Given the description of an element on the screen output the (x, y) to click on. 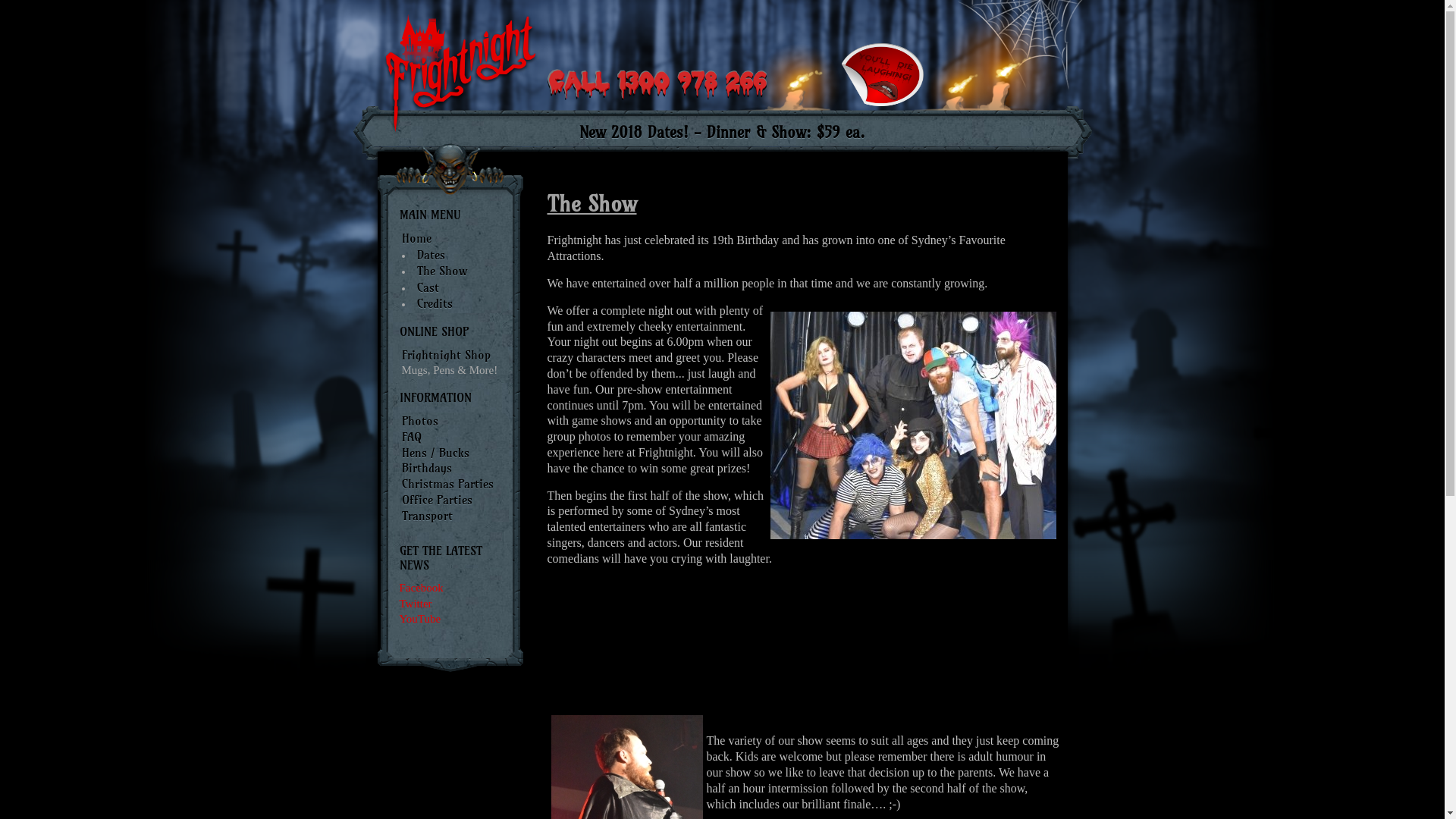
1300 978 266 Element type: hover (656, 95)
Christmas Parties Element type: text (447, 483)
Hens / Bucks Element type: text (435, 452)
YouTube Element type: text (419, 618)
New 2018 Dates! - Dinner & Show: $59 ea. Element type: text (722, 132)
The Show Element type: text (442, 270)
Home Element type: text (416, 237)
Frightnight Shop Element type: text (445, 354)
Birthdays Element type: text (426, 467)
Photos Element type: text (419, 420)
Advertisement Element type: hover (803, 642)
Twitter Element type: text (414, 603)
Dates Element type: text (431, 254)
Skip to primary content Element type: text (1101, 30)
Credits Element type: text (434, 302)
Office Parties Element type: text (436, 499)
Facebook Element type: text (420, 587)
Advertisement Element type: hover (771, 22)
Transport Element type: text (426, 515)
Frightnight - Home Element type: hover (459, 137)
Cast Element type: text (428, 286)
Home Element type: hover (459, 77)
Skip to secondary content Element type: text (1107, 30)
FAQ Element type: text (411, 436)
